Given the description of an element on the screen output the (x, y) to click on. 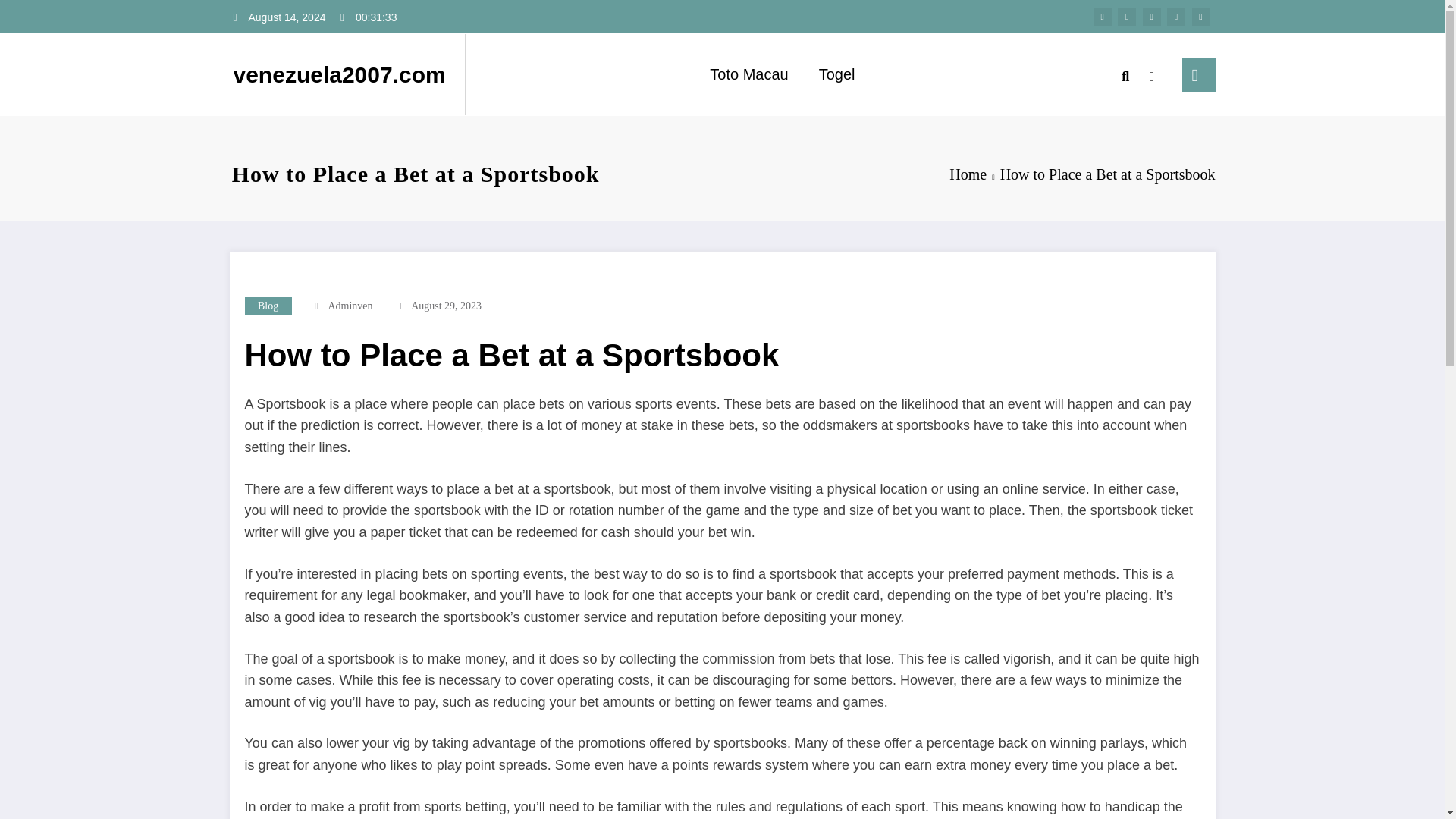
Toggle Icon (1198, 74)
date-time (445, 306)
Home (968, 174)
Togel (836, 74)
dribbble (1151, 16)
Adminven (349, 306)
venezuela2007.com (338, 74)
fa-brands fa-x-twitter (1126, 16)
Blog (267, 305)
venezuela2007.com (338, 74)
